Given the description of an element on the screen output the (x, y) to click on. 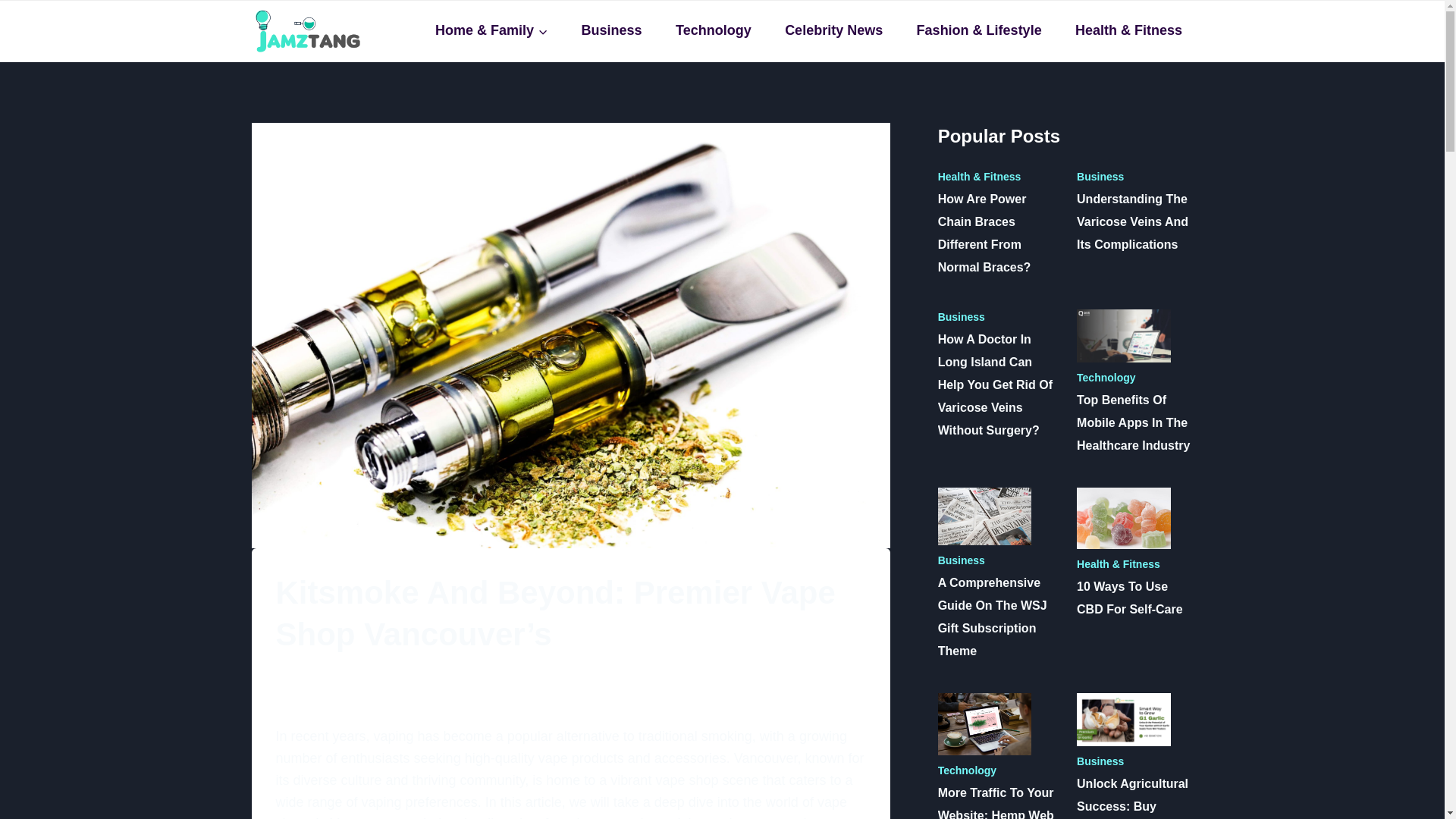
Technology (713, 30)
Business (611, 30)
Celebrity News (833, 30)
